Given the description of an element on the screen output the (x, y) to click on. 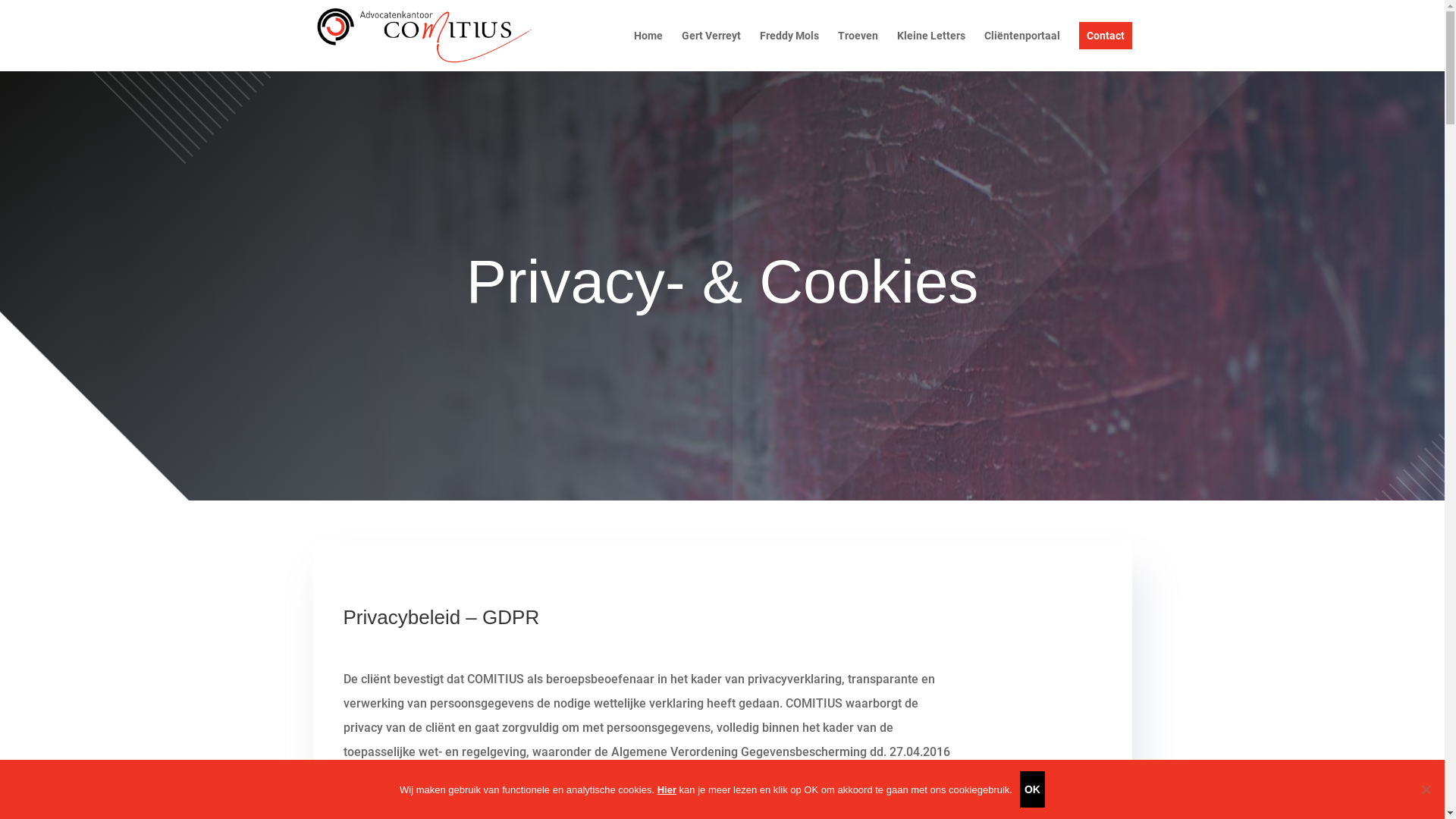
Gert Verreyt Element type: text (710, 50)
No Element type: hover (1425, 789)
Hier Element type: text (666, 789)
Troeven Element type: text (857, 50)
Home Element type: text (647, 50)
Freddy Mols Element type: text (789, 50)
OK Element type: text (1031, 789)
Contact Element type: text (1104, 50)
Kleine Letters Element type: text (930, 50)
